Given the description of an element on the screen output the (x, y) to click on. 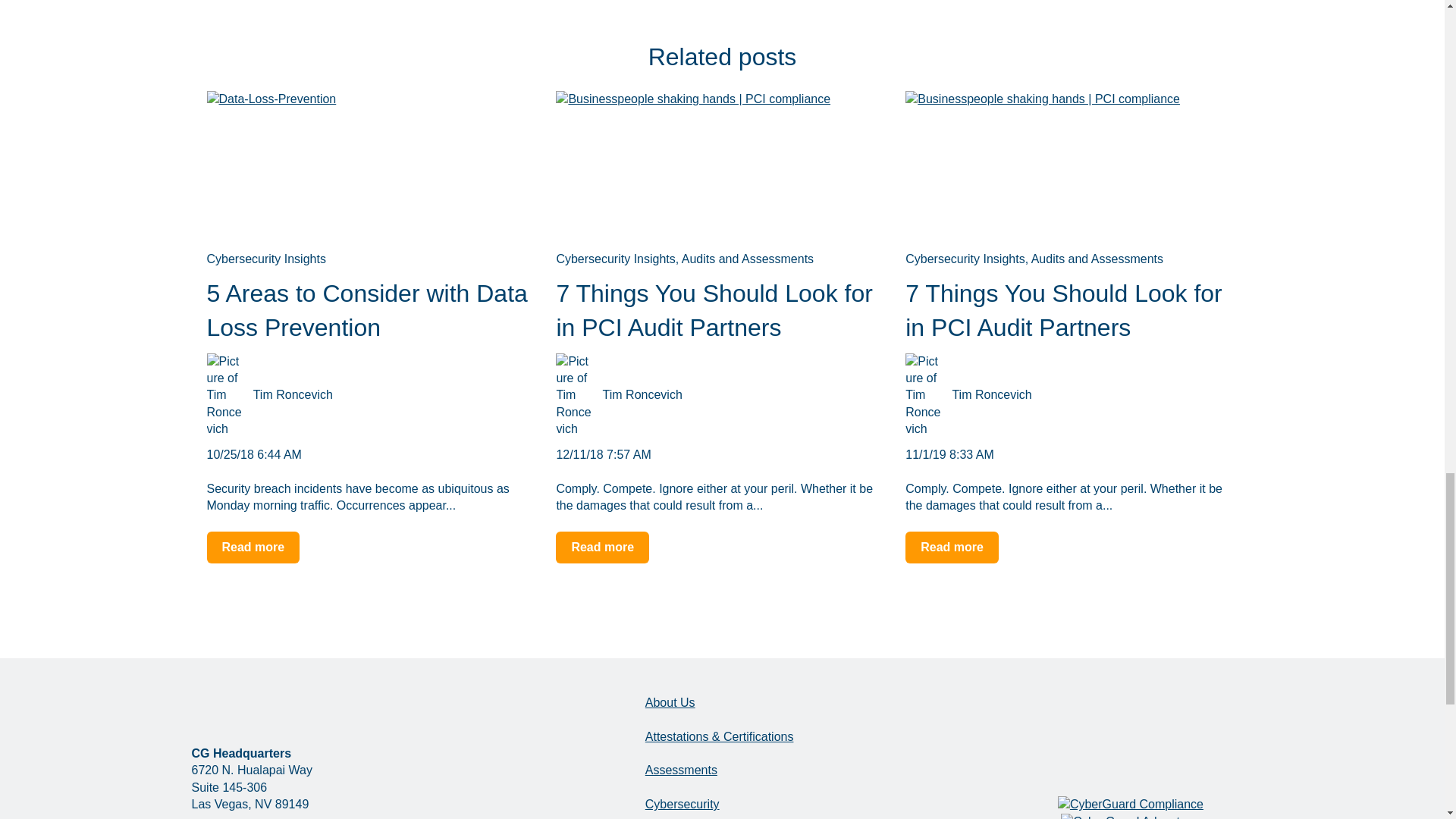
CyberGuard Advantage (1130, 816)
CyberGuard Compliance (1131, 804)
